Given the description of an element on the screen output the (x, y) to click on. 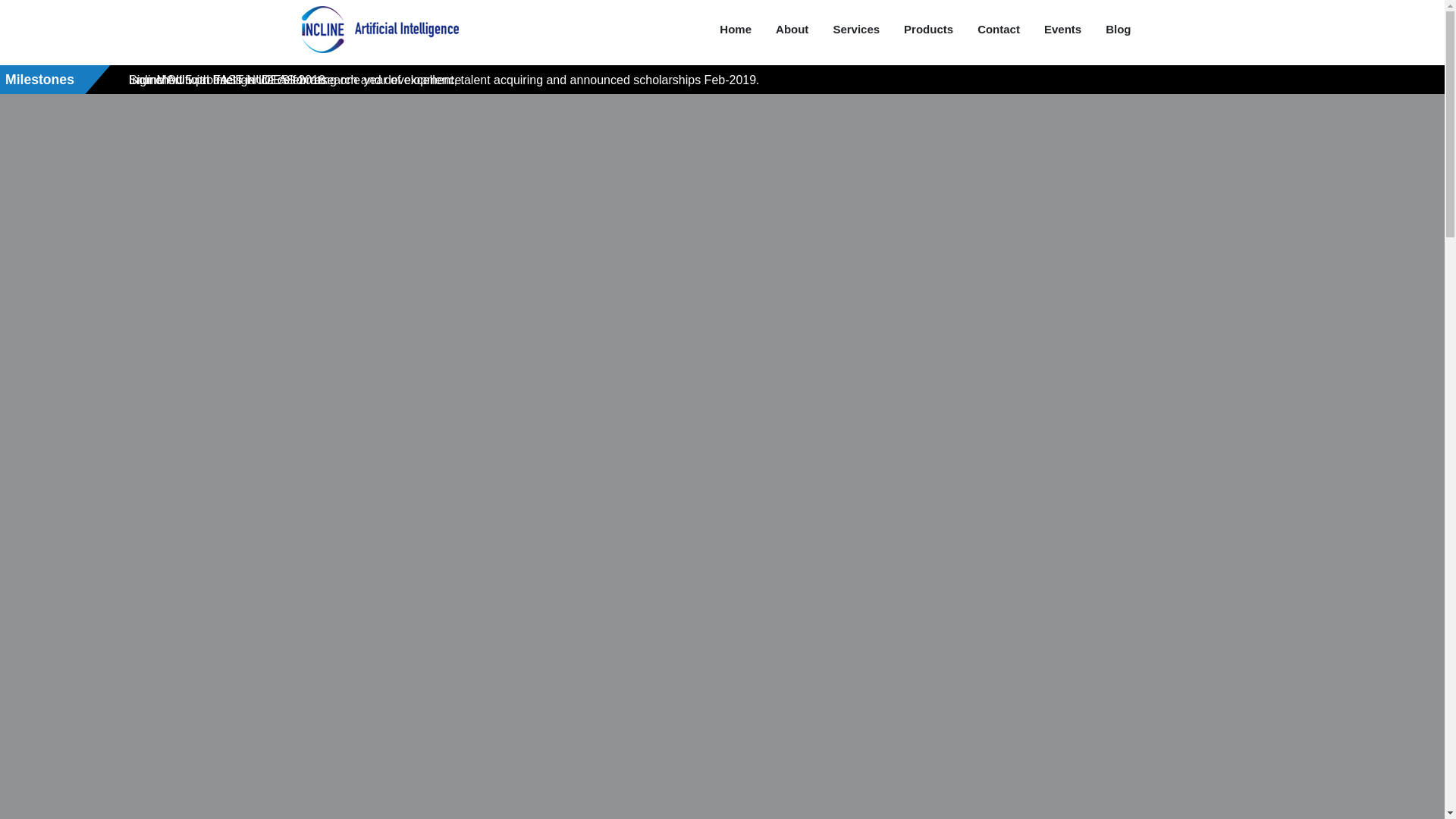
Events (1062, 29)
Events (1062, 29)
Services (856, 29)
About (791, 29)
Products (928, 29)
Services (856, 29)
Contact (998, 29)
Home (734, 29)
Products (928, 29)
Contact (998, 29)
